Given the description of an element on the screen output the (x, y) to click on. 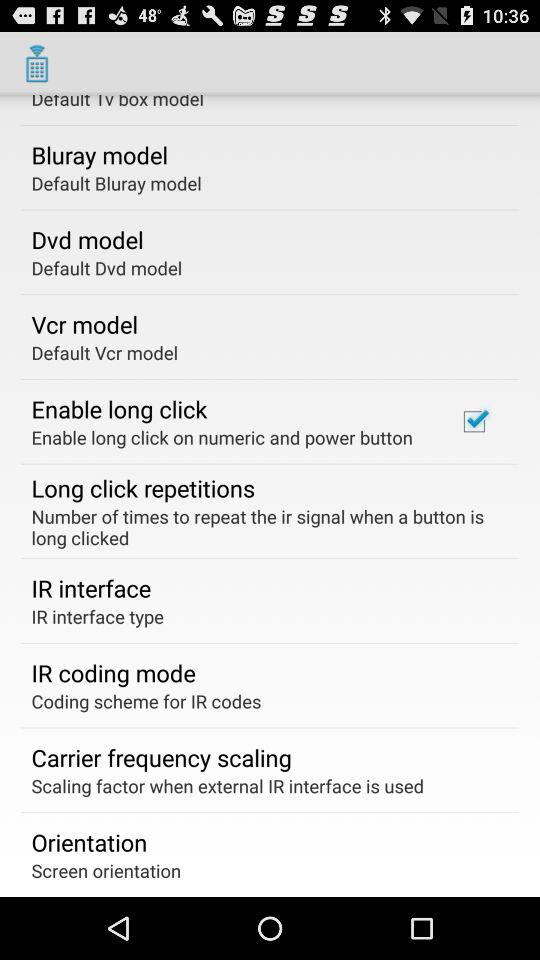
press app below the coding scheme for (161, 757)
